Given the description of an element on the screen output the (x, y) to click on. 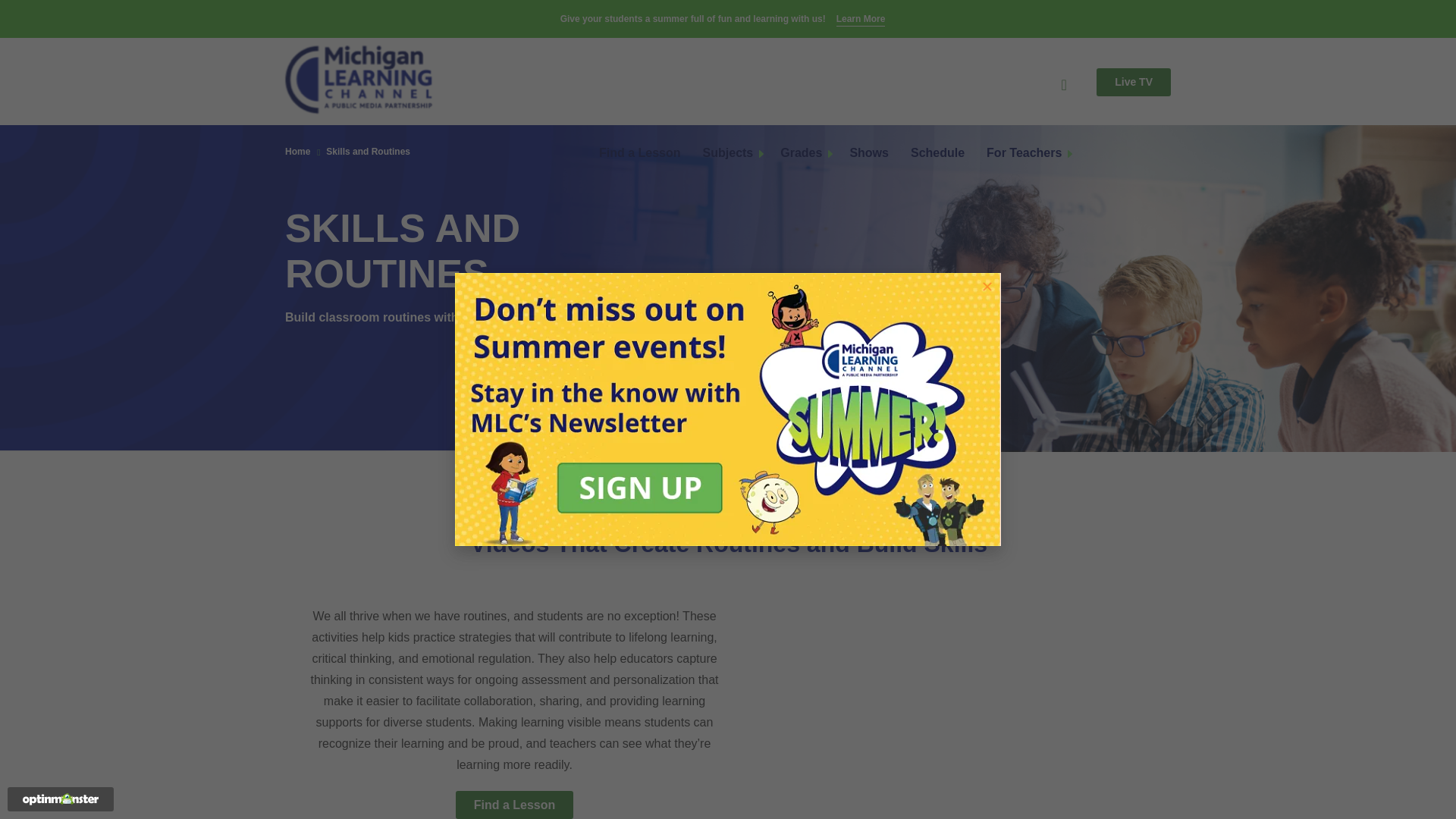
Find a Lesson (514, 805)
Learn More (860, 19)
Find a Lesson (639, 153)
Go to Michigan Learning Channel Home. (358, 79)
Shows (868, 153)
Schedule (937, 153)
Go to Michigan Learning Channel. (297, 151)
For Teachers (1023, 153)
Subjects (728, 153)
Live TV (1133, 81)
Home (297, 151)
Grades (801, 153)
